Given the description of an element on the screen output the (x, y) to click on. 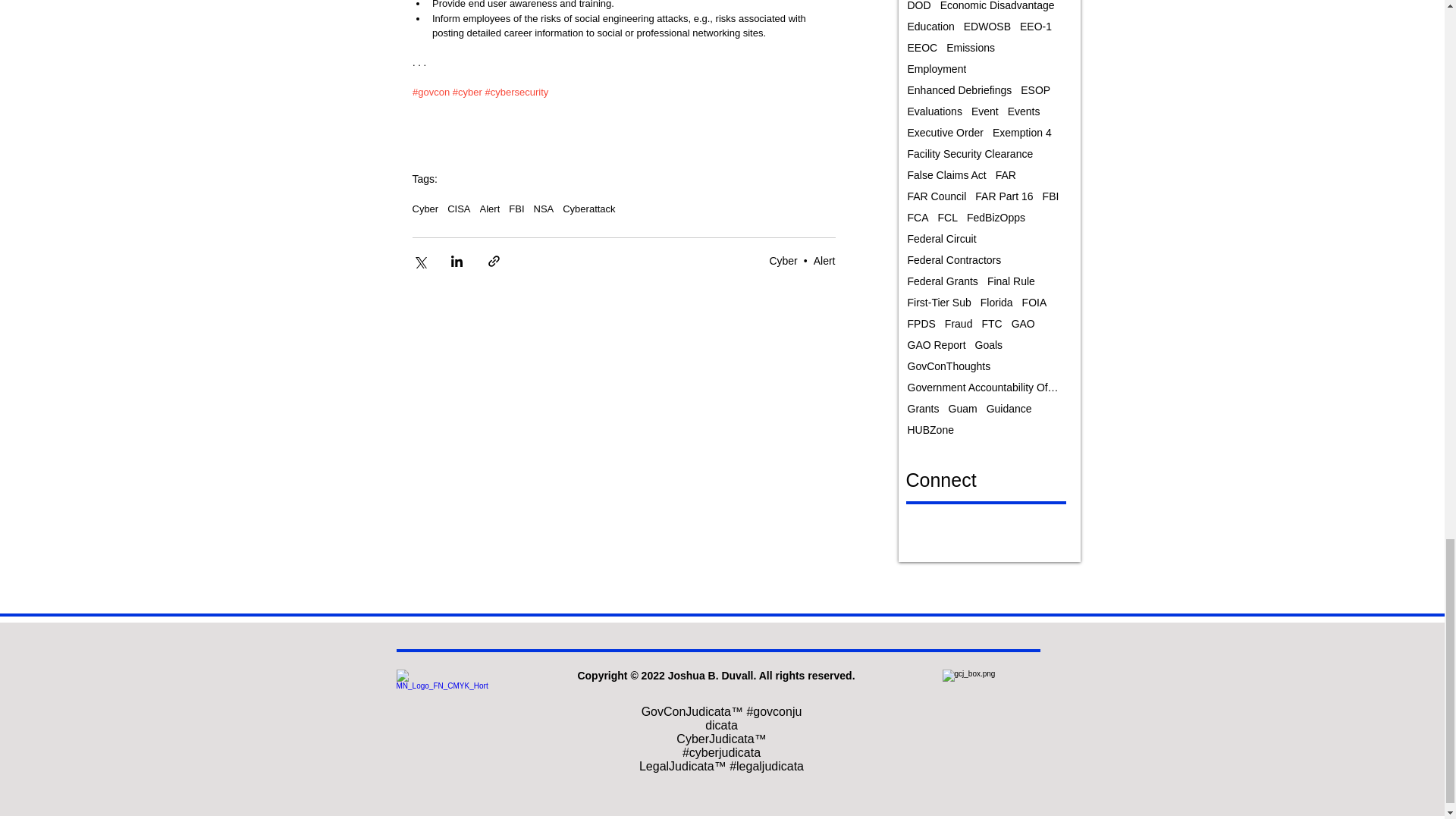
CISA (458, 208)
Cyber (782, 260)
Alert (824, 260)
FBI (516, 208)
Cyberattack (588, 208)
NSA (544, 208)
Matross Edwards.jpg (441, 715)
Cyber (425, 208)
Alert (490, 208)
